Given the description of an element on the screen output the (x, y) to click on. 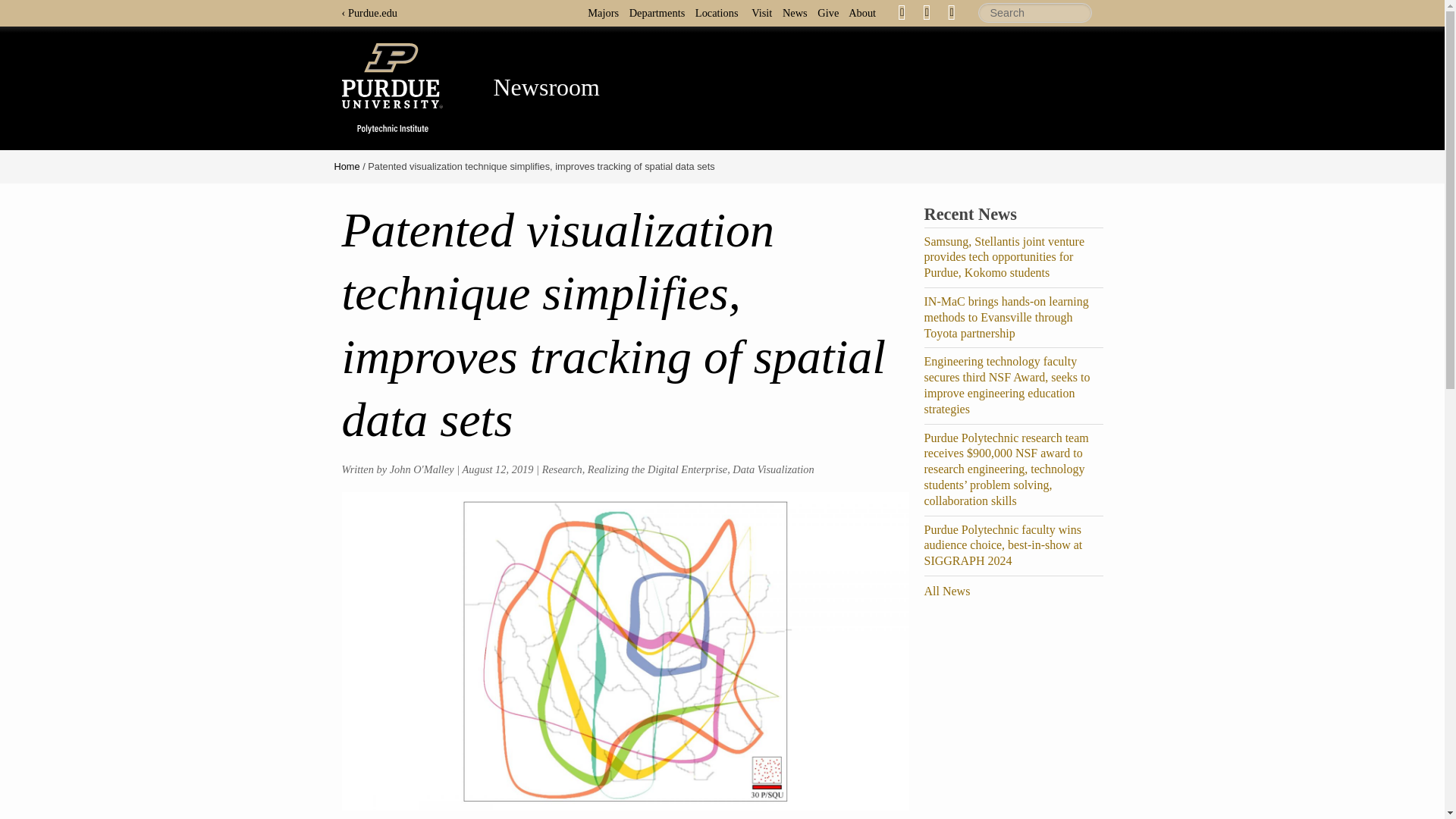
Newsroom (545, 86)
facebook link (901, 12)
Enter the terms you wish to search for. (1035, 12)
Search (1035, 12)
Research (561, 469)
About (865, 12)
Departments (660, 12)
